Given the description of an element on the screen output the (x, y) to click on. 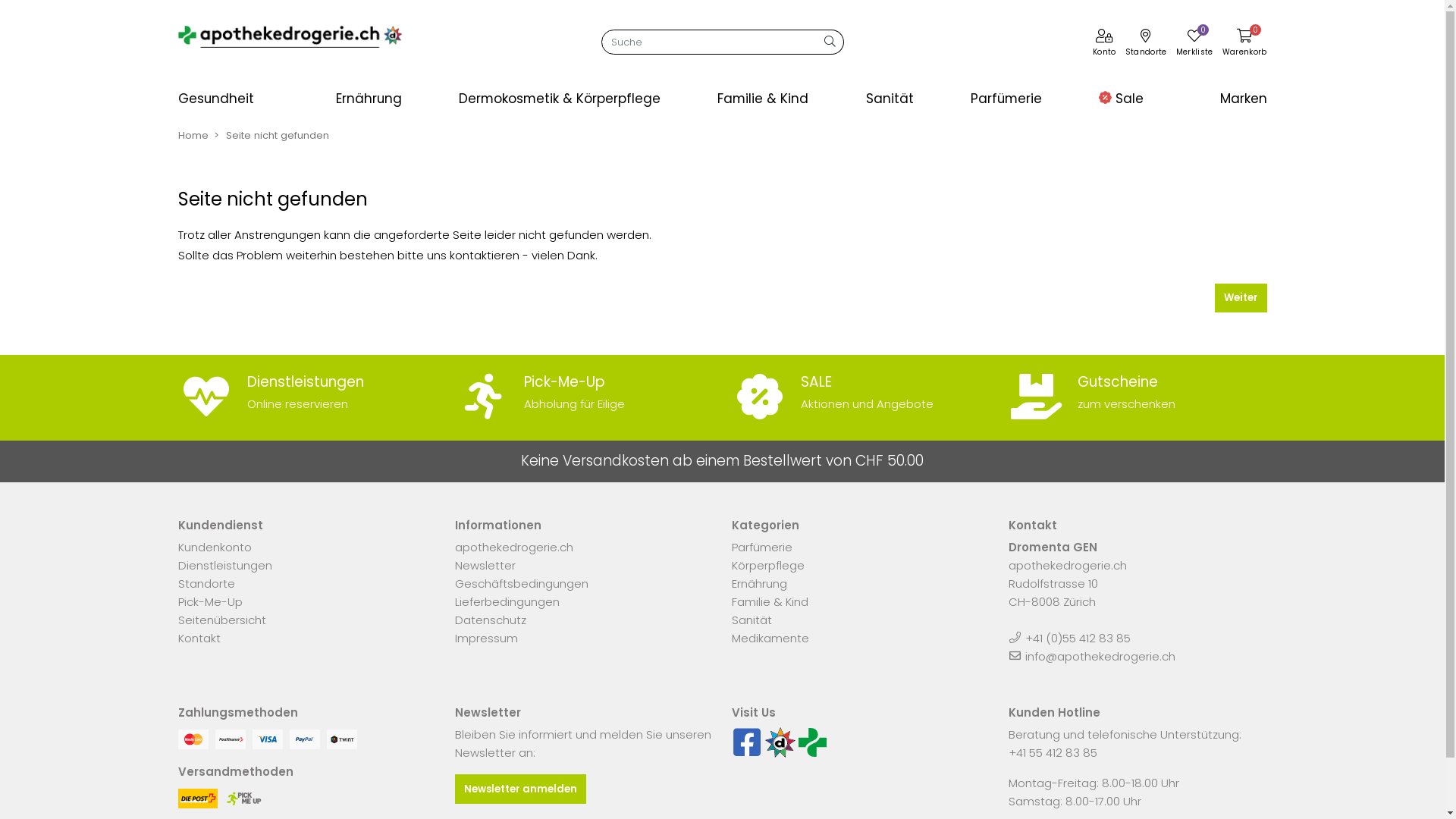
0
Warenkorb Element type: text (1244, 44)
0
Merkliste Element type: text (1194, 44)
Standorte Element type: text (205, 583)
Seite nicht gefunden Element type: text (277, 135)
Lieferbedingungen Element type: text (507, 601)
Gutscheine
zum verschenken Element type: text (1137, 393)
Kontakt Element type: text (198, 638)
Dienstleistungen Element type: text (224, 565)
info@apothekedrogerie.ch Element type: text (1098, 656)
Kundenkonto Element type: text (214, 547)
SALE
Aktionen und Angebote Element type: text (860, 393)
Sale Element type: text (1120, 98)
Newsletter Element type: text (485, 565)
Dienstleistungen
Online reservieren Element type: text (306, 393)
Familie & Kind Element type: text (766, 98)
Marken Element type: text (1217, 98)
Konto Element type: text (1104, 44)
Gesundheit Element type: text (243, 98)
apothekedrogerie.ch Element type: text (514, 547)
Weiter Element type: text (1240, 298)
Standorte Element type: text (1146, 44)
Newsletter anmelden Element type: text (520, 788)
Home Element type: text (192, 135)
Datenschutz Element type: text (490, 619)
Pick-Me-Up Element type: text (209, 601)
+41 55 412 83 85 Element type: text (1052, 752)
Medikamente Element type: text (769, 638)
+41 (0)55 412 83 85 Element type: text (1069, 638)
Familie & Kind Element type: text (769, 601)
Impressum Element type: text (486, 638)
